Given the description of an element on the screen output the (x, y) to click on. 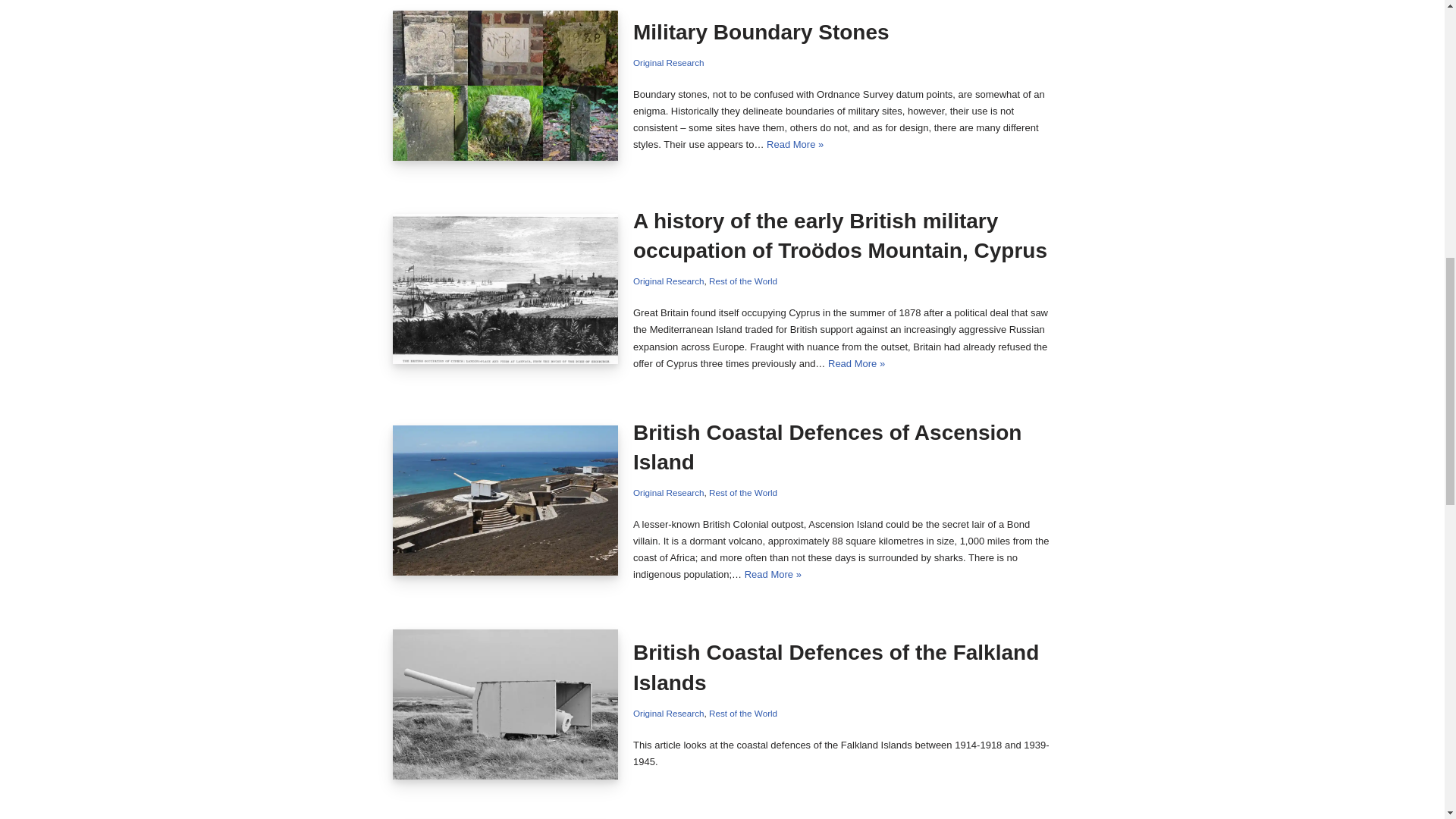
Military Boundary Stones (505, 85)
British Coastal Defences of Ascension Island (505, 500)
British Coastal Defences of the Falkland Islands (505, 704)
